Given the description of an element on the screen output the (x, y) to click on. 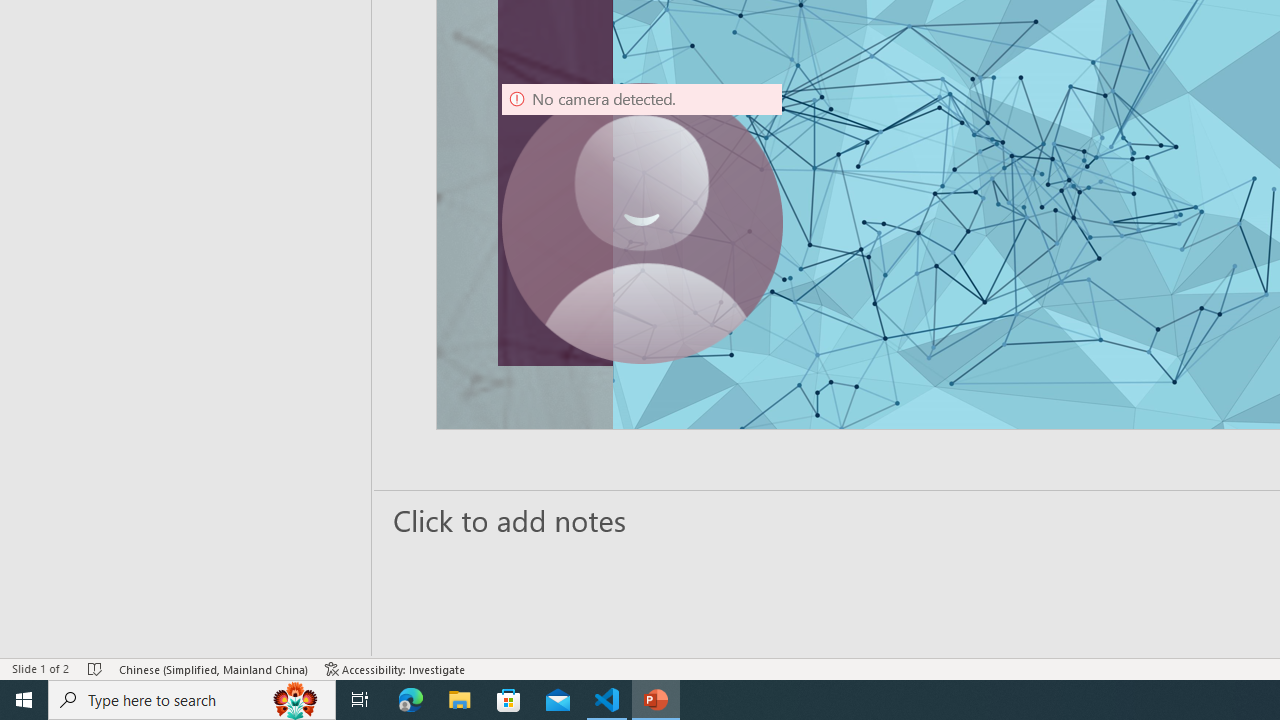
remote (122, 628)
Reload (1071, 174)
No Problems (212, 628)
Problems (Ctrl+Shift+M) (567, 218)
Output (Ctrl+Shift+U) (696, 218)
Debug Console (Ctrl+Shift+Y) (854, 218)
Outline Section (331, 362)
Timeline Section (331, 398)
Accounts - Sign in requested (135, 493)
